Given the description of an element on the screen output the (x, y) to click on. 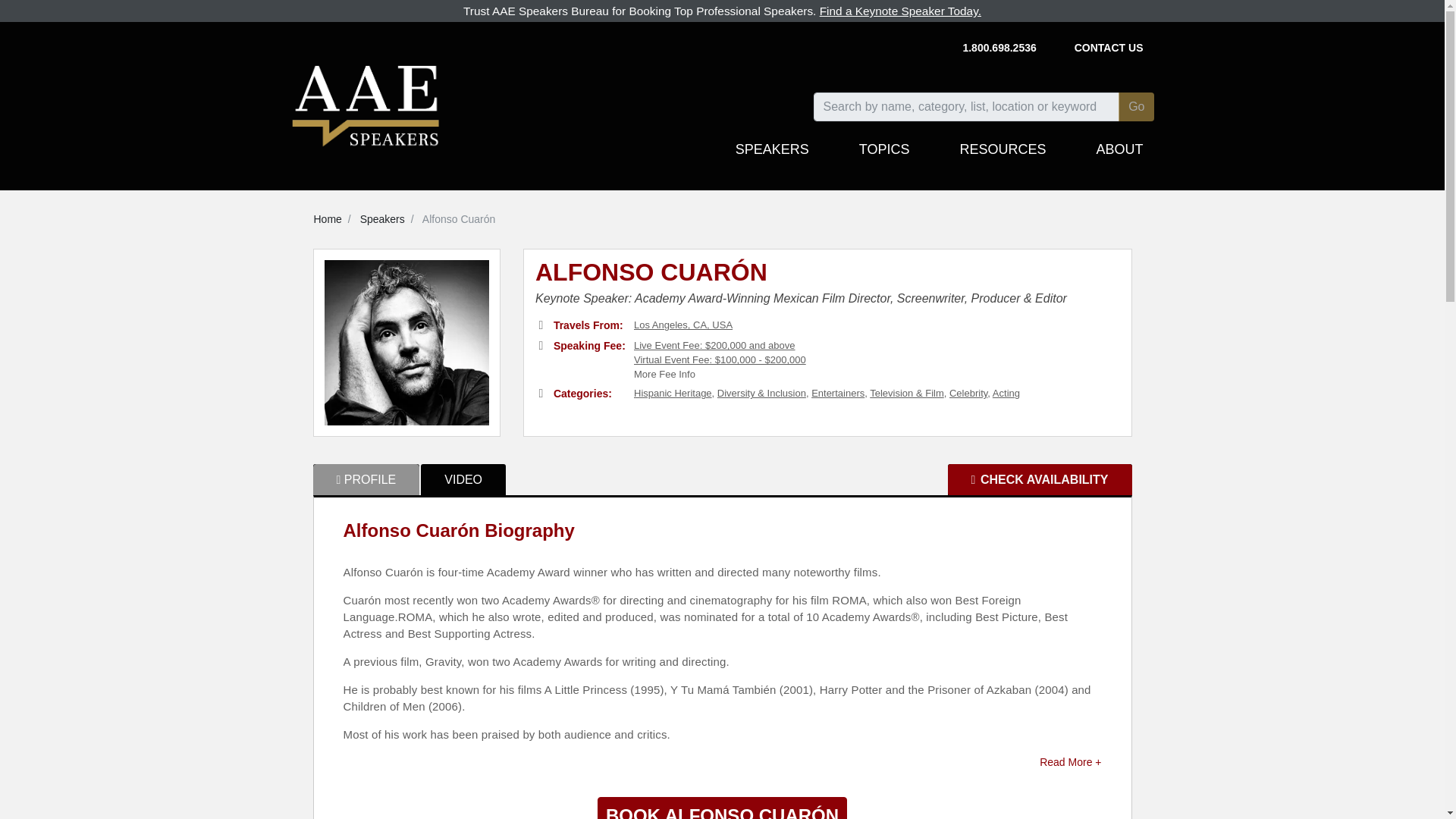
Speakers (381, 218)
Go (1136, 106)
Los Angeles, CA, USA (682, 324)
CONTACT US (1108, 48)
Hispanic Heritage (672, 392)
TOPICS (884, 155)
ABOUT (1118, 155)
RESOURCES (1002, 155)
Home (328, 218)
More Fee Info (664, 374)
Entertainers (837, 392)
SPEAKERS (772, 155)
Go (1136, 106)
Find a Keynote Speaker Today. (900, 10)
